Given the description of an element on the screen output the (x, y) to click on. 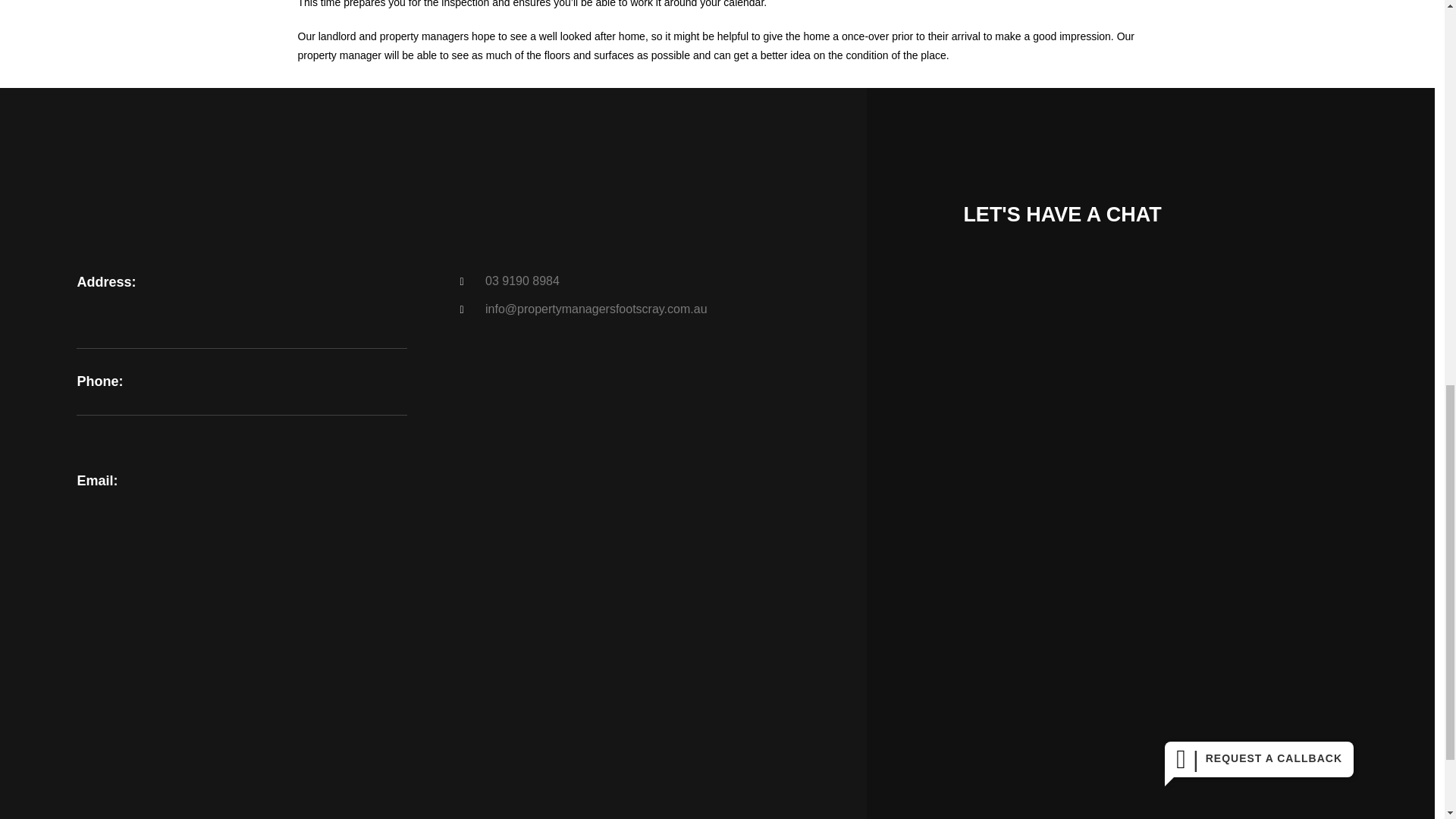
90 Maribyrnong Street, Footscray, VIC, 3011. (432, 691)
03 9190 8984 (624, 281)
